Given the description of an element on the screen output the (x, y) to click on. 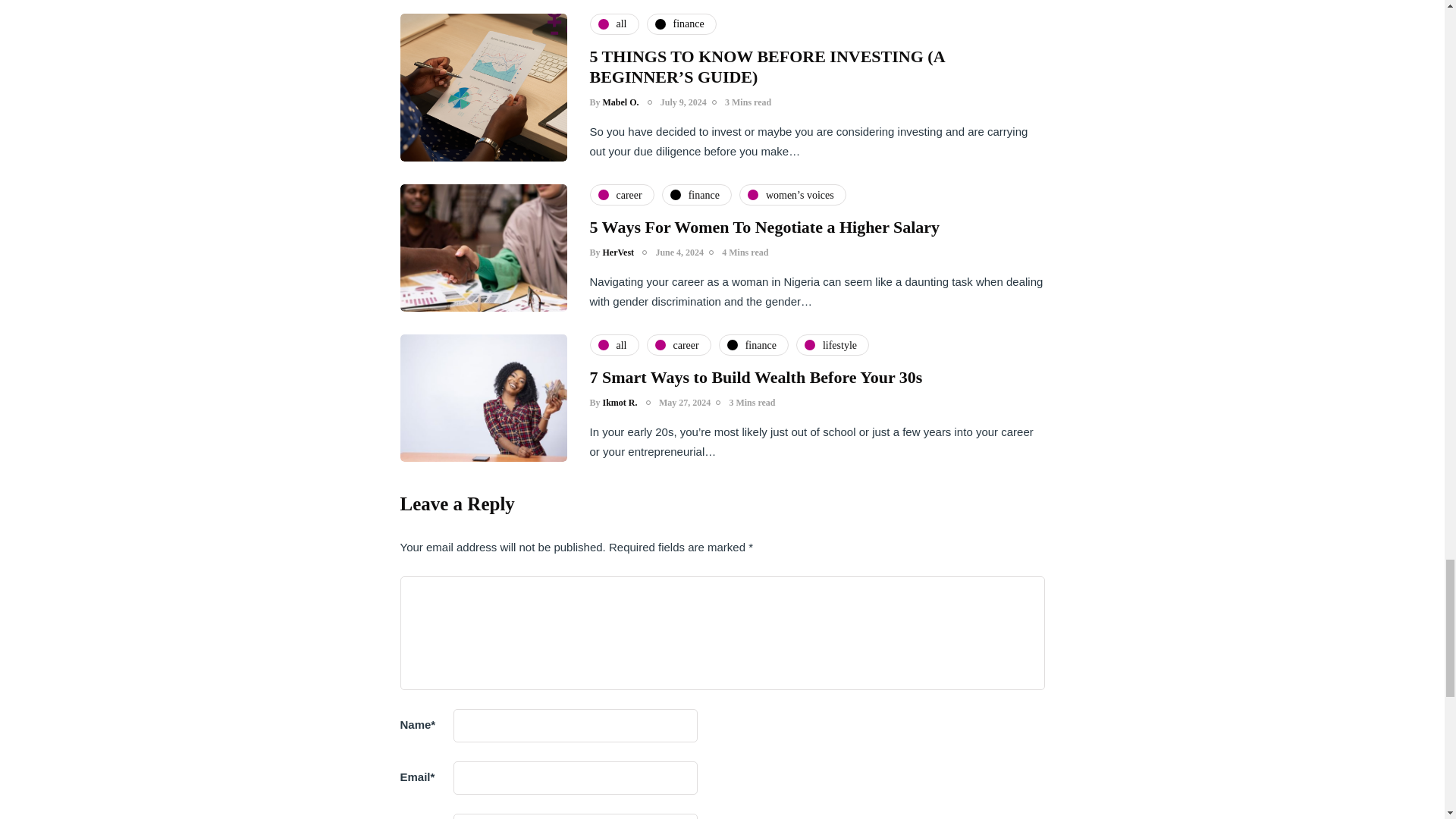
Posts by Ikmot R. (619, 402)
all (614, 24)
Mabel O. (620, 102)
Posts by HerVest (618, 252)
finance (681, 24)
Posts by Mabel O. (620, 102)
